Given the description of an element on the screen output the (x, y) to click on. 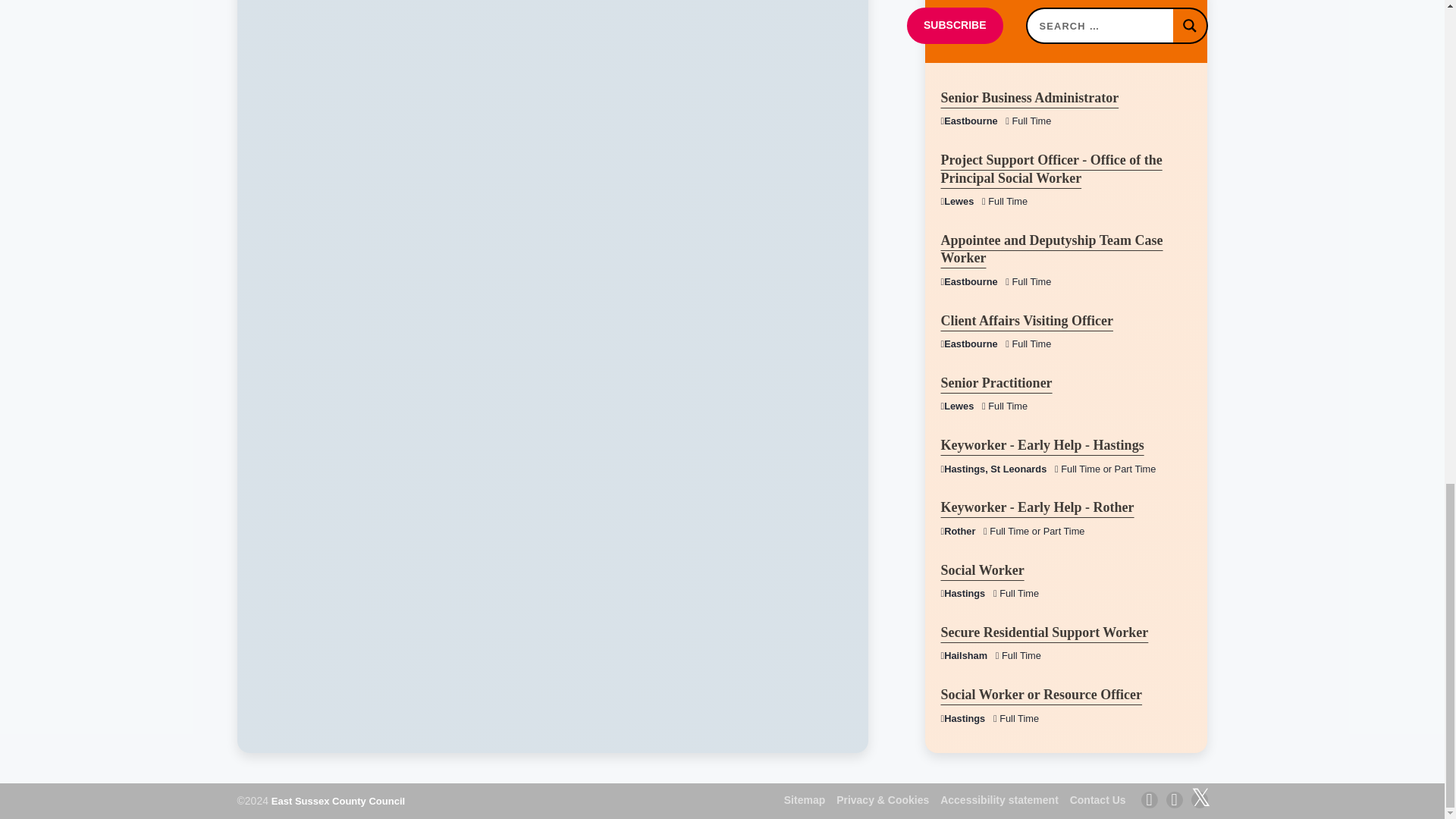
Client Affairs Visiting Officer (1026, 320)
Keyworker - Early Help - Rother (1037, 507)
East Sussex County Council (337, 800)
Secure Residential Support Worker (1044, 631)
Social Worker (981, 570)
Keyworker - Early Help - Hastings (1041, 444)
Senior Business Administrator (1029, 97)
Social Worker or Resource Officer (1040, 694)
Appointee and Deputyship Team Case Worker (1050, 248)
Senior Practitioner (995, 382)
